Given the description of an element on the screen output the (x, y) to click on. 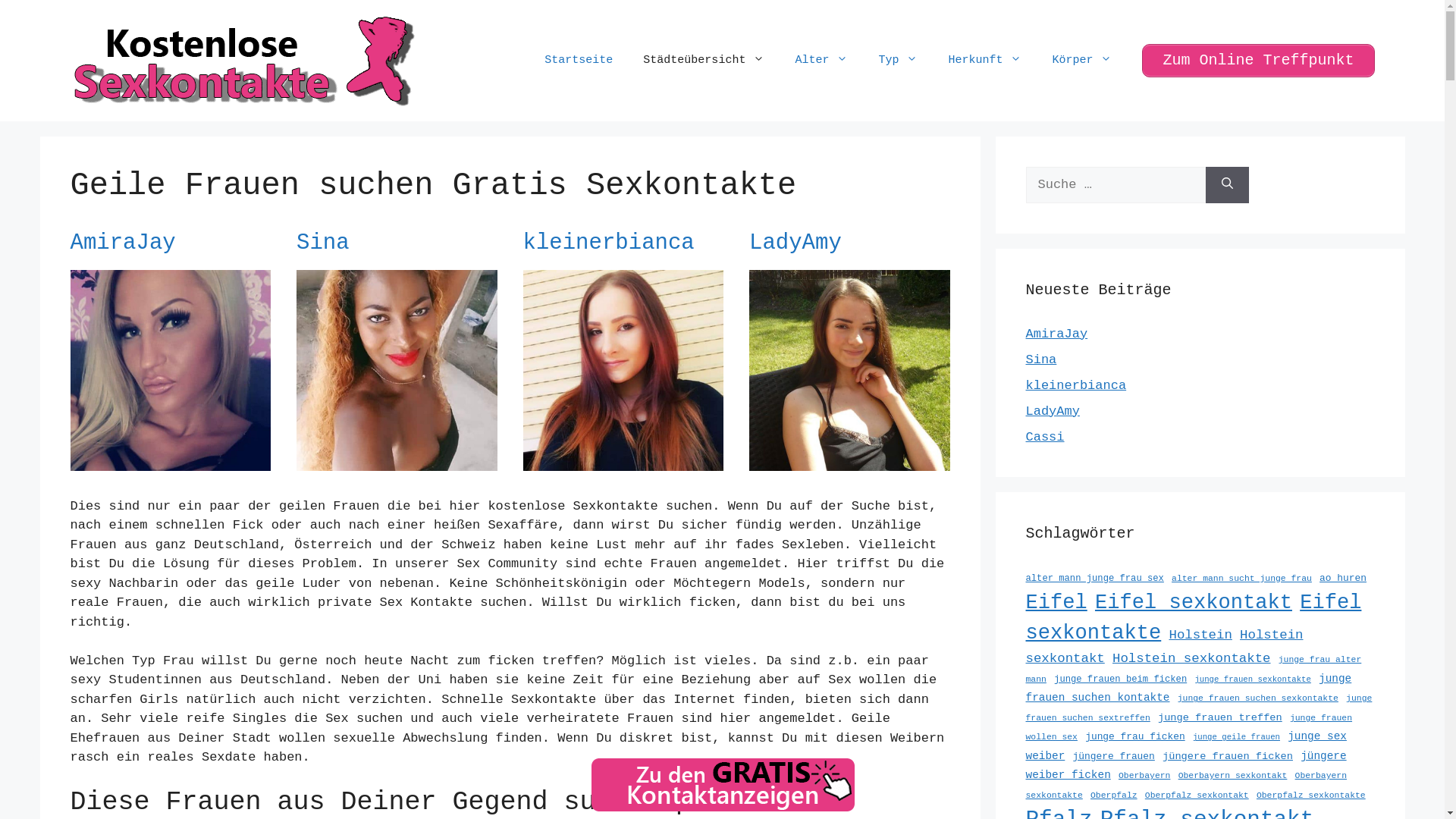
Holstein Element type: text (1199, 634)
Zum Online Treffpunkt Element type: text (1258, 60)
junge frauen sexkontakte Element type: text (1252, 679)
Sina Element type: text (322, 242)
kleinerbianca Element type: text (1075, 384)
Oberpfalz sexkontakt Element type: text (1196, 795)
Typ Element type: text (897, 60)
junge frau ficken Element type: text (1135, 736)
junge frauen suchen sexkontakte Element type: text (1257, 697)
junge frau alter mann Element type: text (1193, 669)
junge frauen suchen sextreffen Element type: text (1198, 707)
alter mann junge frau sex Element type: text (1094, 578)
Eifel sexkontakte Element type: text (1193, 616)
Sina Element type: text (1040, 358)
LadyAmy Element type: text (1052, 410)
Holstein sexkontakte Element type: text (1191, 658)
Herkunft Element type: text (984, 60)
Holstein sexkontakt Element type: text (1163, 646)
junge geile frauen Element type: text (1236, 736)
Oberpfalz sexkontakte Element type: text (1310, 795)
Oberbayern sexkontakt Element type: text (1232, 775)
Eifel Element type: text (1055, 601)
junge frauen suchen kontakte Element type: text (1188, 688)
Cassi Element type: text (1044, 436)
Oberpfalz Element type: text (1113, 795)
kleinerbianca Element type: hover (623, 460)
LadyAmy Element type: hover (849, 460)
kleinerbianca Element type: text (608, 242)
alter mann sucht junge frau Element type: text (1241, 578)
Oberbayern sexkontakte Element type: text (1185, 785)
AmiraJay Element type: text (1056, 333)
junge frauen beim ficken Element type: text (1120, 679)
junge sex weiber Element type: text (1185, 746)
Sina Element type: hover (396, 460)
LadyAmy Element type: text (795, 242)
junge frauen wollen sex Element type: text (1188, 727)
AmiraJay Element type: text (122, 242)
Eifel sexkontakt Element type: text (1193, 601)
ao huren Element type: text (1342, 577)
Startseite Element type: text (578, 60)
Oberbayern Element type: text (1144, 775)
AmiraJay Element type: hover (169, 460)
Alter Element type: text (820, 60)
junge frauen treffen Element type: text (1219, 717)
Suche nach: Element type: hover (1114, 184)
